Given the description of an element on the screen output the (x, y) to click on. 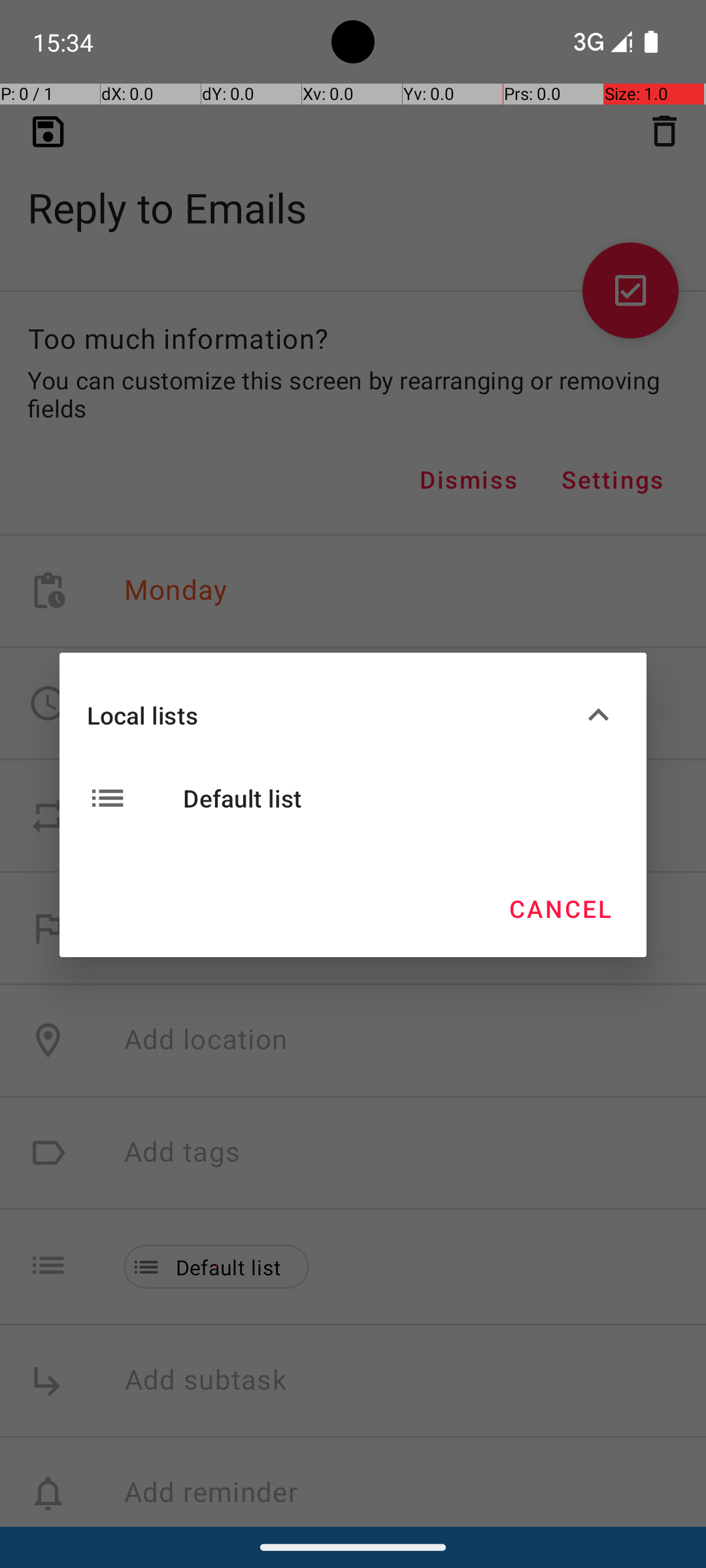
Local lists Element type: android.widget.TextView (331, 715)
